Given the description of an element on the screen output the (x, y) to click on. 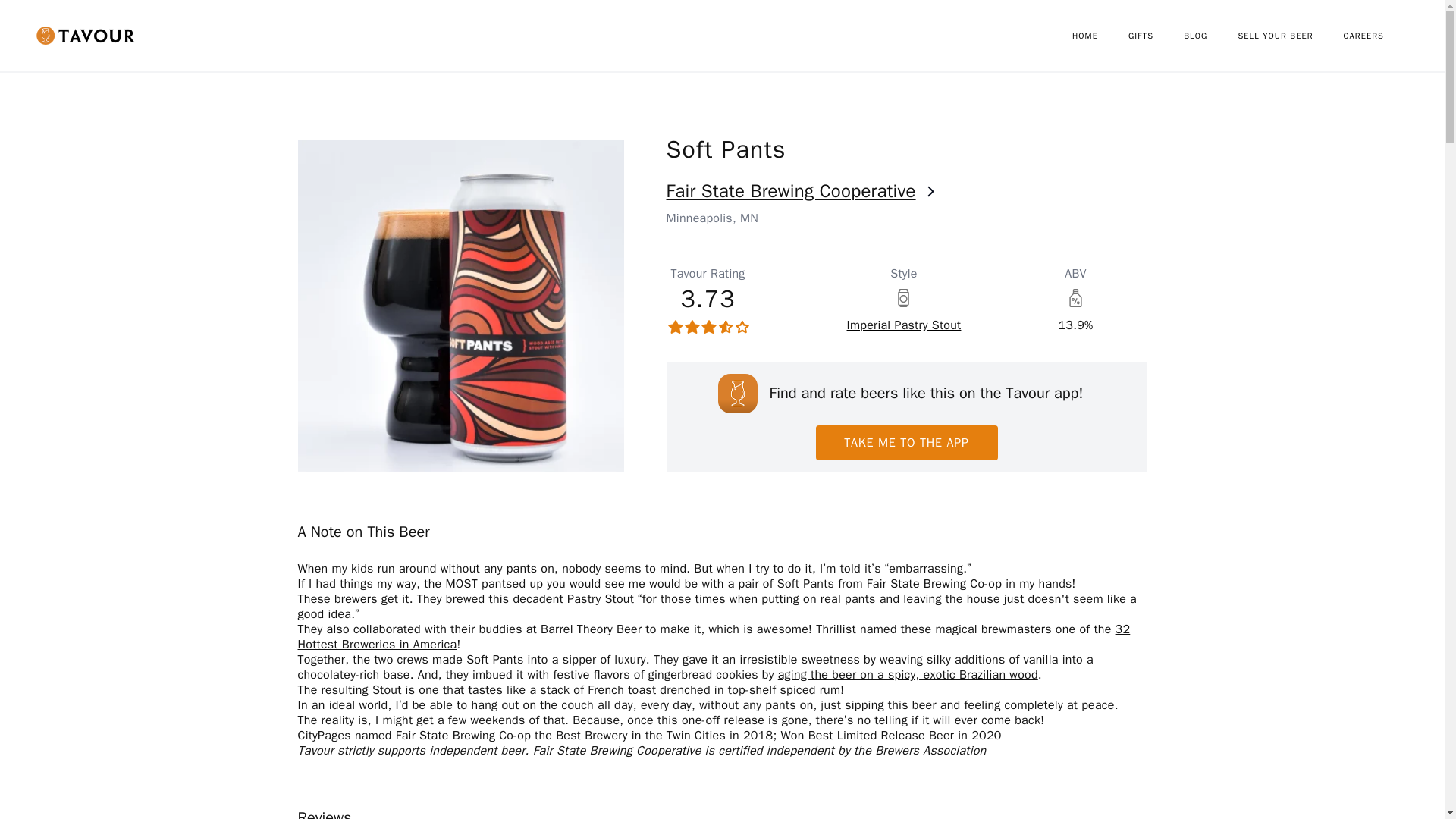
GIFTS (1155, 35)
CAREERS (1378, 35)
sell your beer (1289, 35)
SELL YOUR BEER (1289, 35)
gifts (1155, 35)
blog (1210, 35)
home (1099, 35)
TAKE ME TO THE APP (906, 442)
Imperial Pastry Stout (902, 325)
BLOG (1210, 35)
careers (1378, 35)
Fair State Brewing Cooperative (906, 191)
HOME (1099, 35)
